Given the description of an element on the screen output the (x, y) to click on. 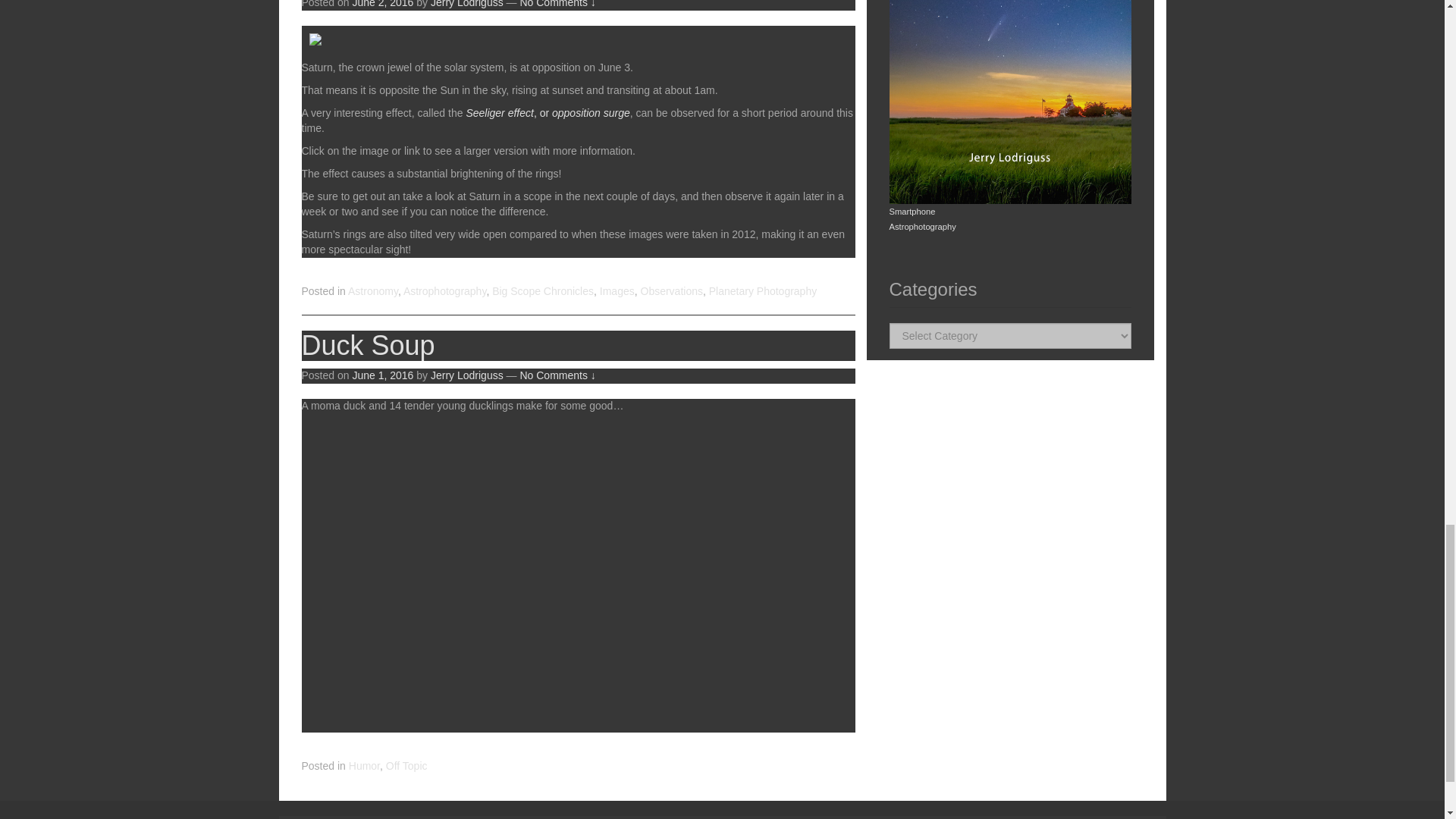
June 2, 2016 (382, 4)
Jerry Lodriguss (466, 4)
View all posts by Jerry Lodriguss (466, 375)
Images (616, 291)
Duck Soup (368, 345)
Observations (670, 291)
Big Scope Chronicles (543, 291)
Seeliger effect, or opposition surge (546, 112)
Planetary Photography (762, 291)
2:27 am (382, 4)
